Given the description of an element on the screen output the (x, y) to click on. 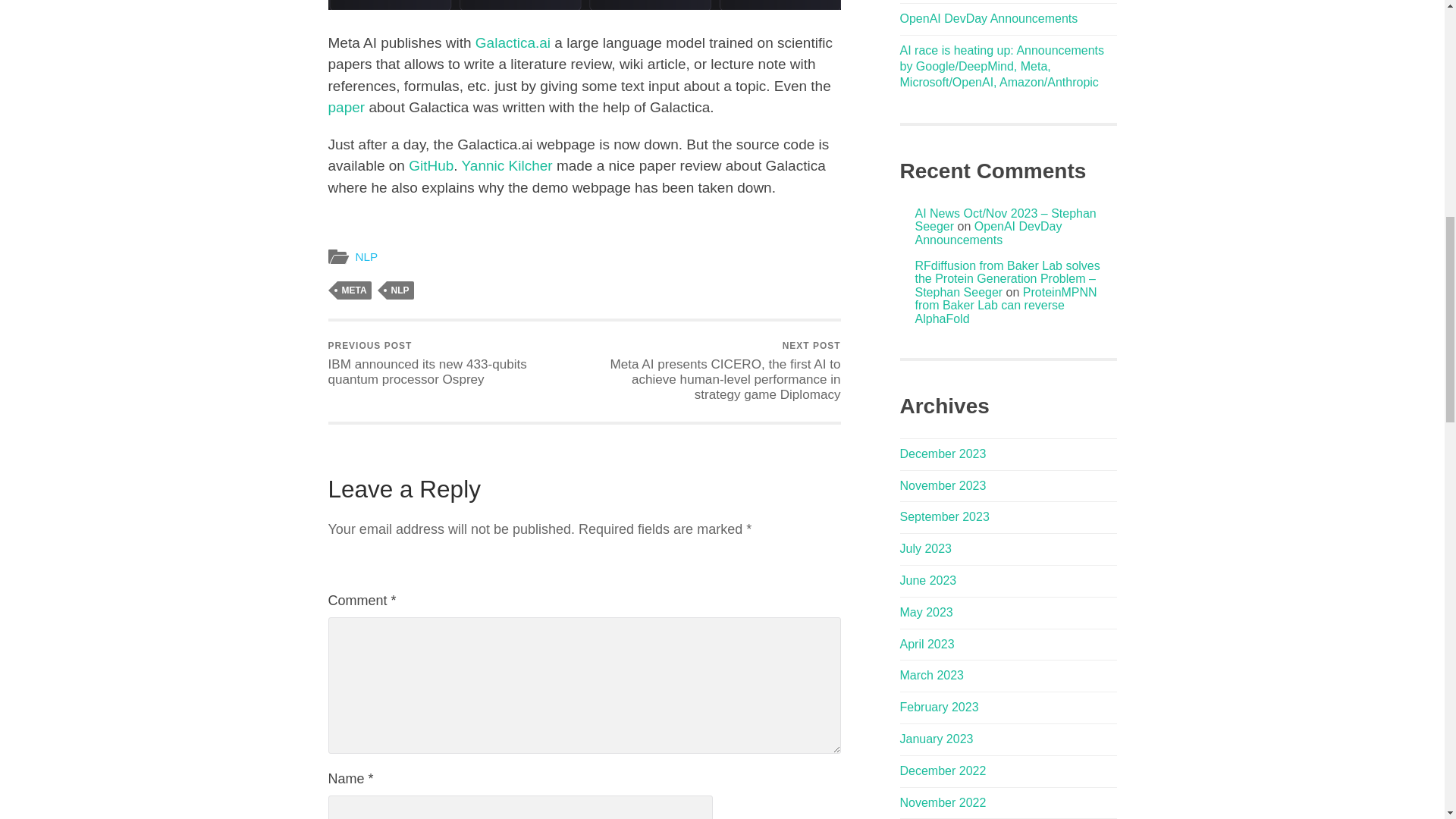
NLP (366, 256)
paper (346, 107)
OpenAI DevDay Announcements (988, 18)
Galactica.ai (511, 42)
Yannic Kilcher (507, 165)
NLP (400, 290)
GitHub (430, 165)
META (353, 290)
